Given the description of an element on the screen output the (x, y) to click on. 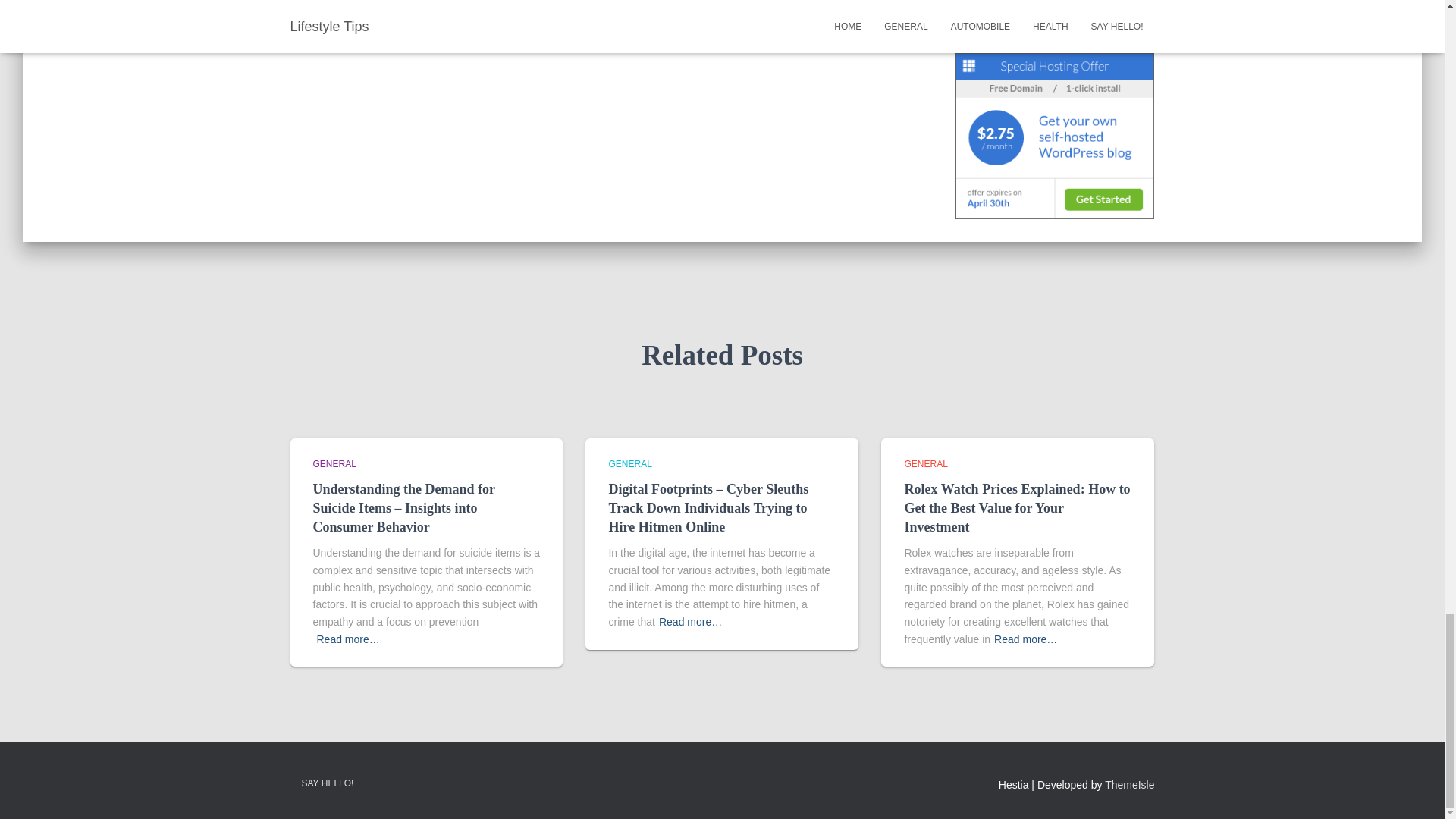
View all posts in General (334, 463)
View all posts in General (925, 463)
View all posts in General (629, 463)
